Given the description of an element on the screen output the (x, y) to click on. 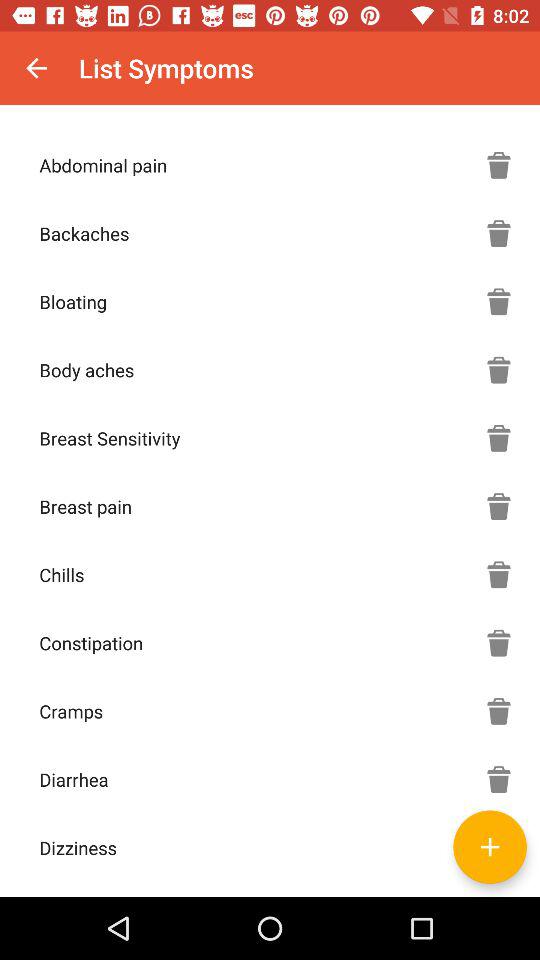
add dizziness (489, 846)
